Given the description of an element on the screen output the (x, y) to click on. 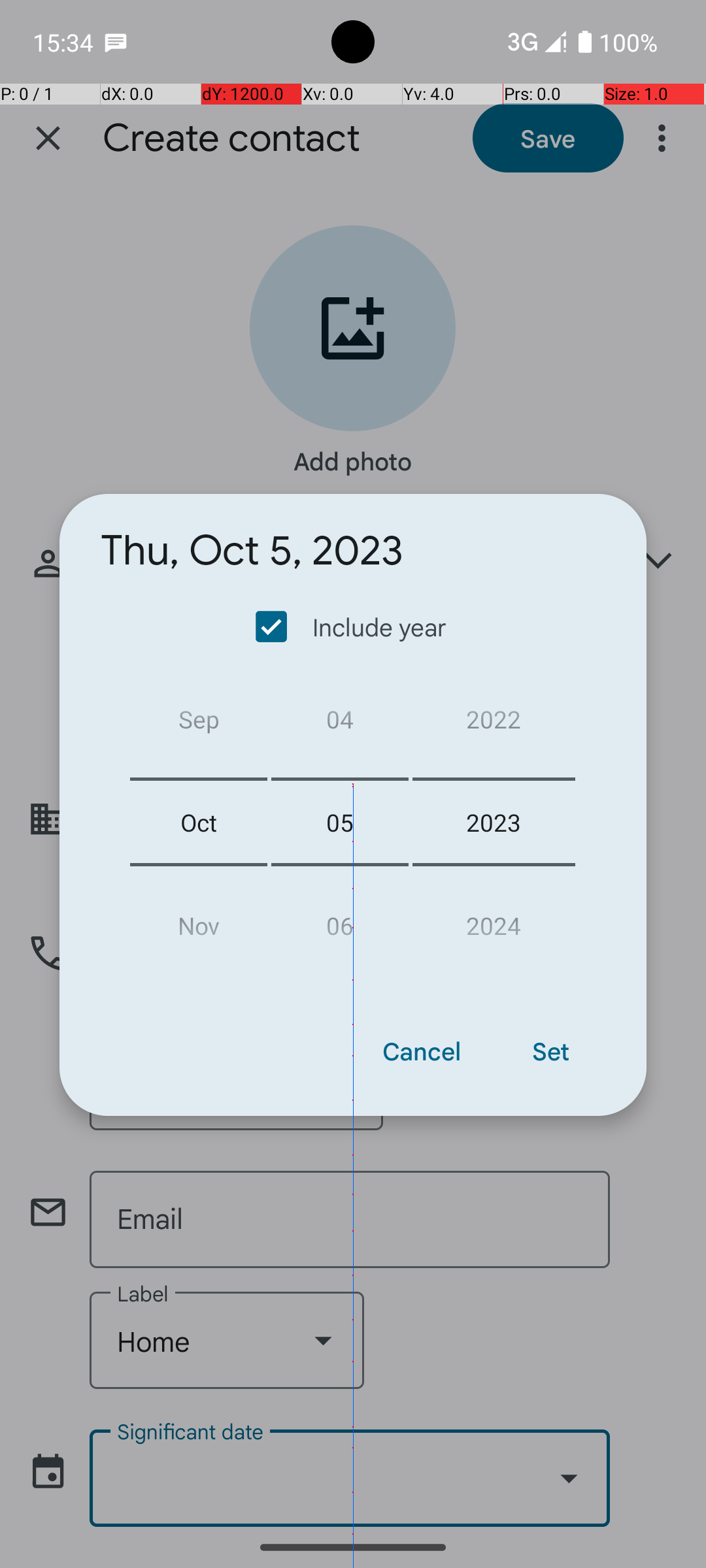
Thu, Oct 5, 2023 Element type: android.widget.TextView (251, 550)
Include year Element type: android.widget.CheckBox (351, 626)
Sep Element type: android.widget.Button (198, 723)
Oct Element type: android.widget.EditText (198, 821)
Nov Element type: android.widget.Button (198, 919)
04 Element type: android.widget.Button (339, 723)
05 Element type: android.widget.EditText (339, 821)
06 Element type: android.widget.Button (339, 919)
2022 Element type: android.widget.Button (493, 723)
2024 Element type: android.widget.Button (493, 919)
Set Element type: android.widget.Button (550, 1050)
